Given the description of an element on the screen output the (x, y) to click on. 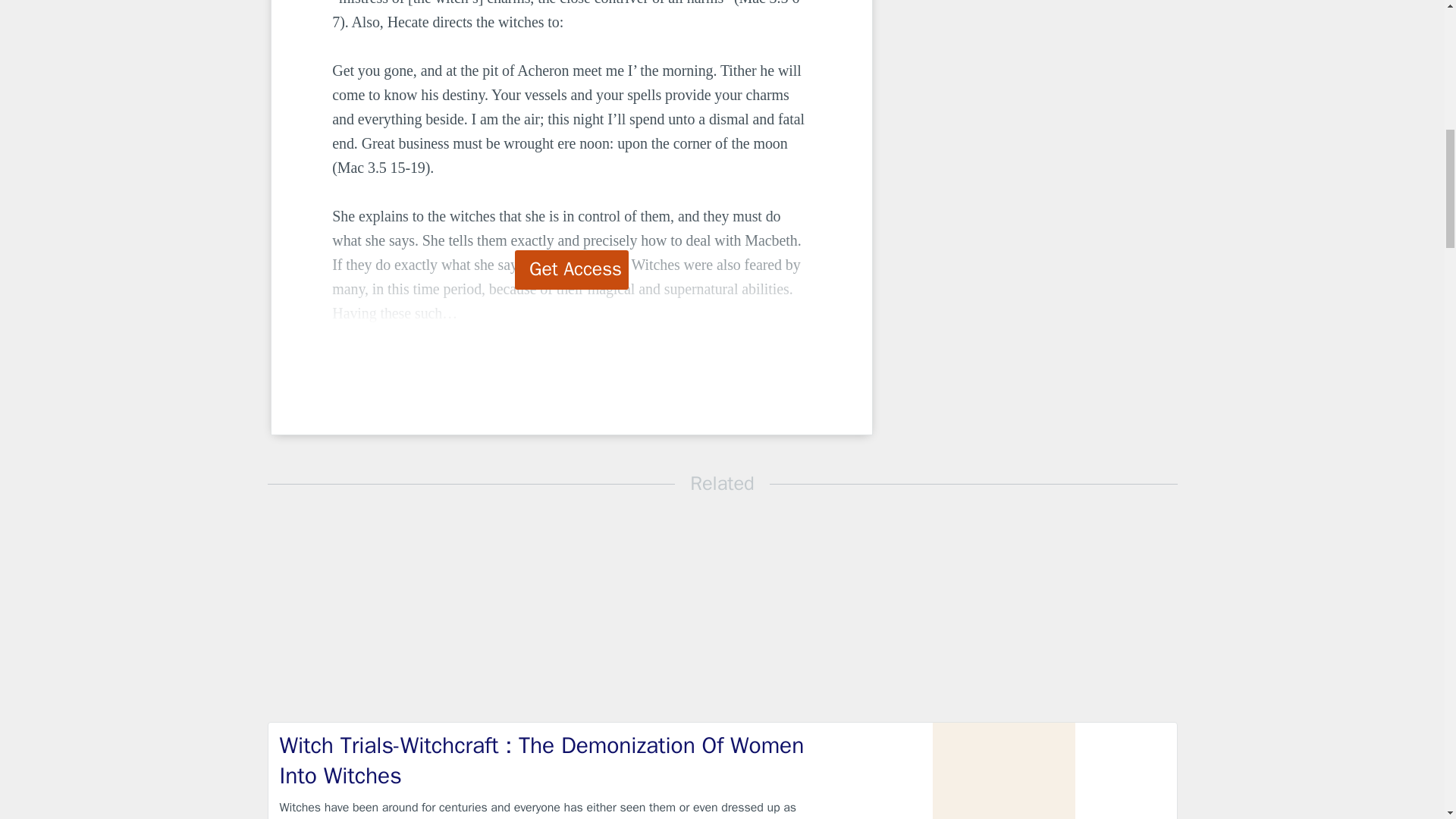
Get Access (571, 269)
